Given the description of an element on the screen output the (x, y) to click on. 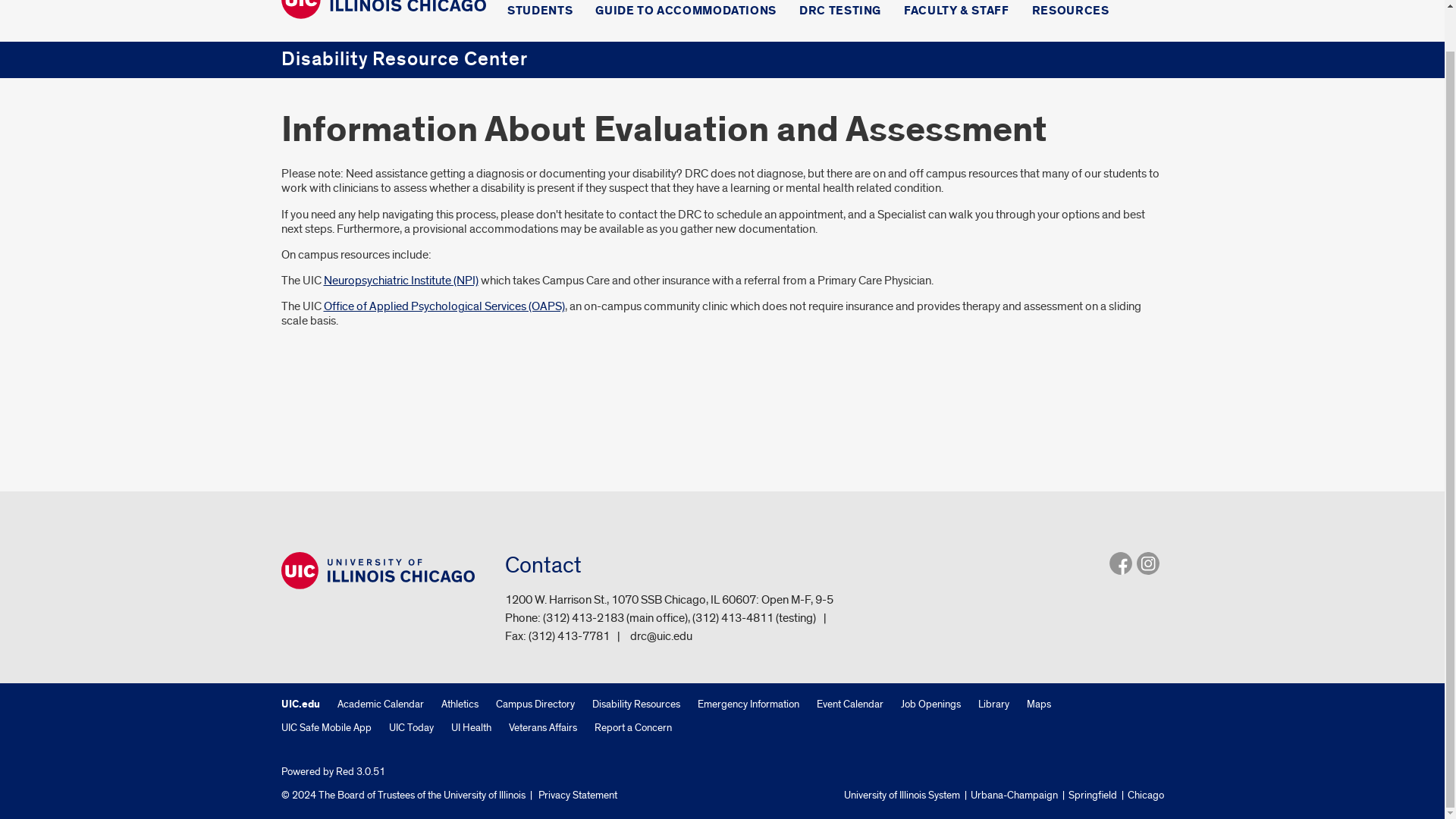
Facebook (1119, 563)
DRC TESTING (839, 14)
University of Illinois Chicago (382, 9)
Instagram (1146, 563)
RESOURCES (1070, 14)
STUDENTS (539, 14)
University of Illinois Chicago (377, 570)
University of Illinois Chicago (382, 11)
GUIDE TO ACCOMMODATIONS (685, 14)
